Given the description of an element on the screen output the (x, y) to click on. 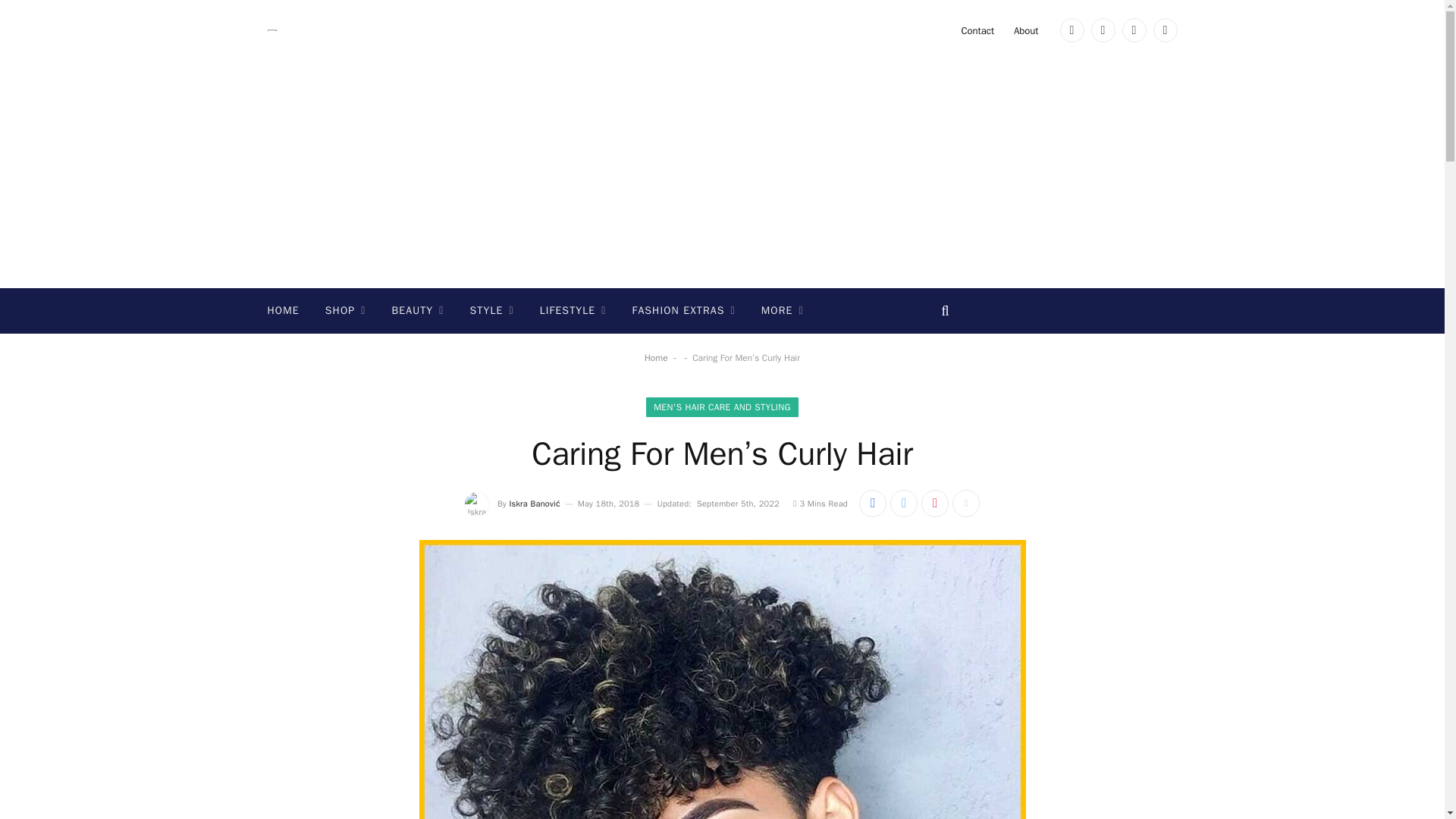
Share on Pinterest (935, 502)
Share on Facebook (872, 502)
Show More Social Sharing (965, 502)
